Given the description of an element on the screen output the (x, y) to click on. 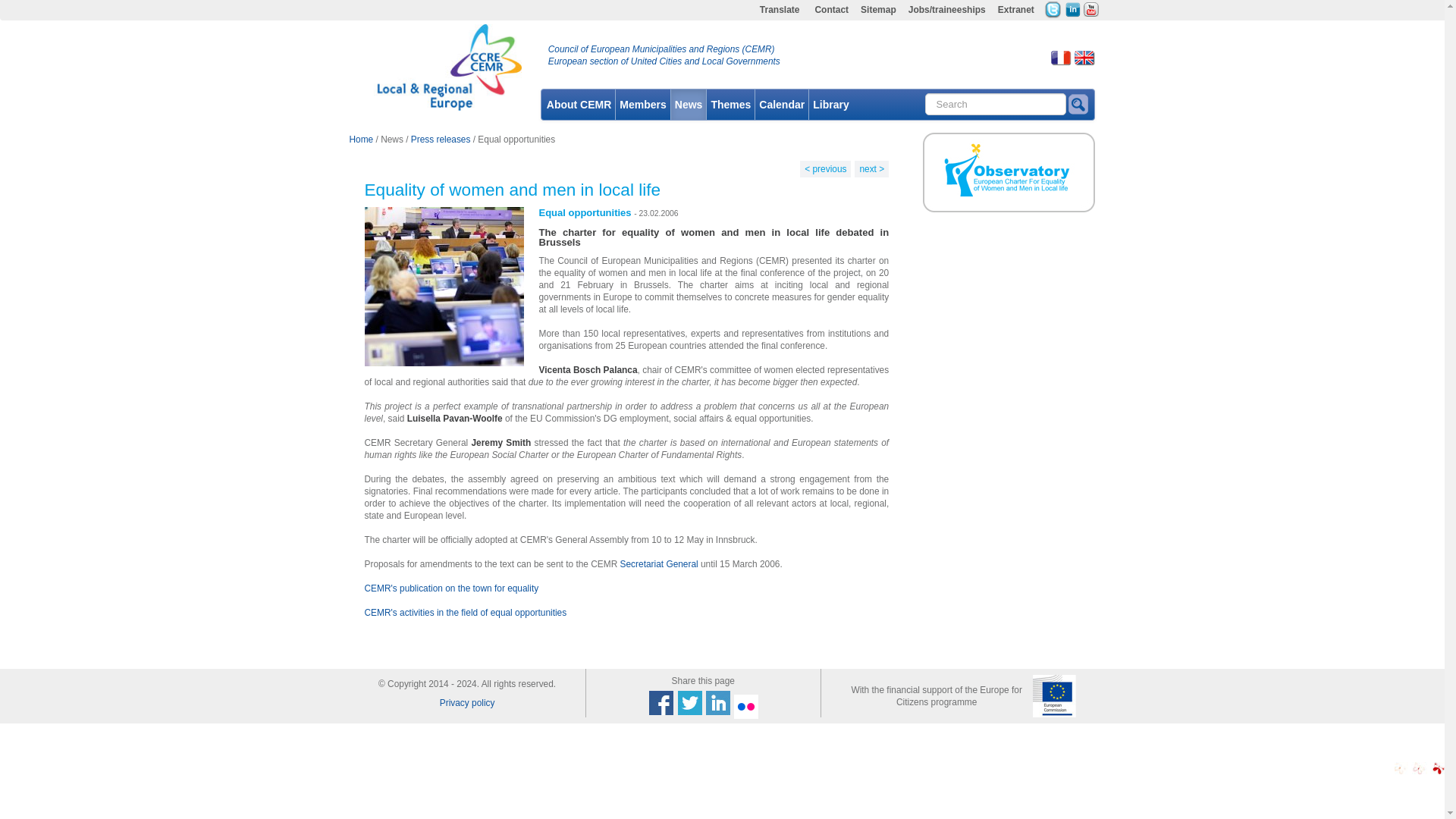
Sitemap (878, 10)
Contact (831, 10)
Extranet (1016, 10)
Translate (780, 10)
